Given the description of an element on the screen output the (x, y) to click on. 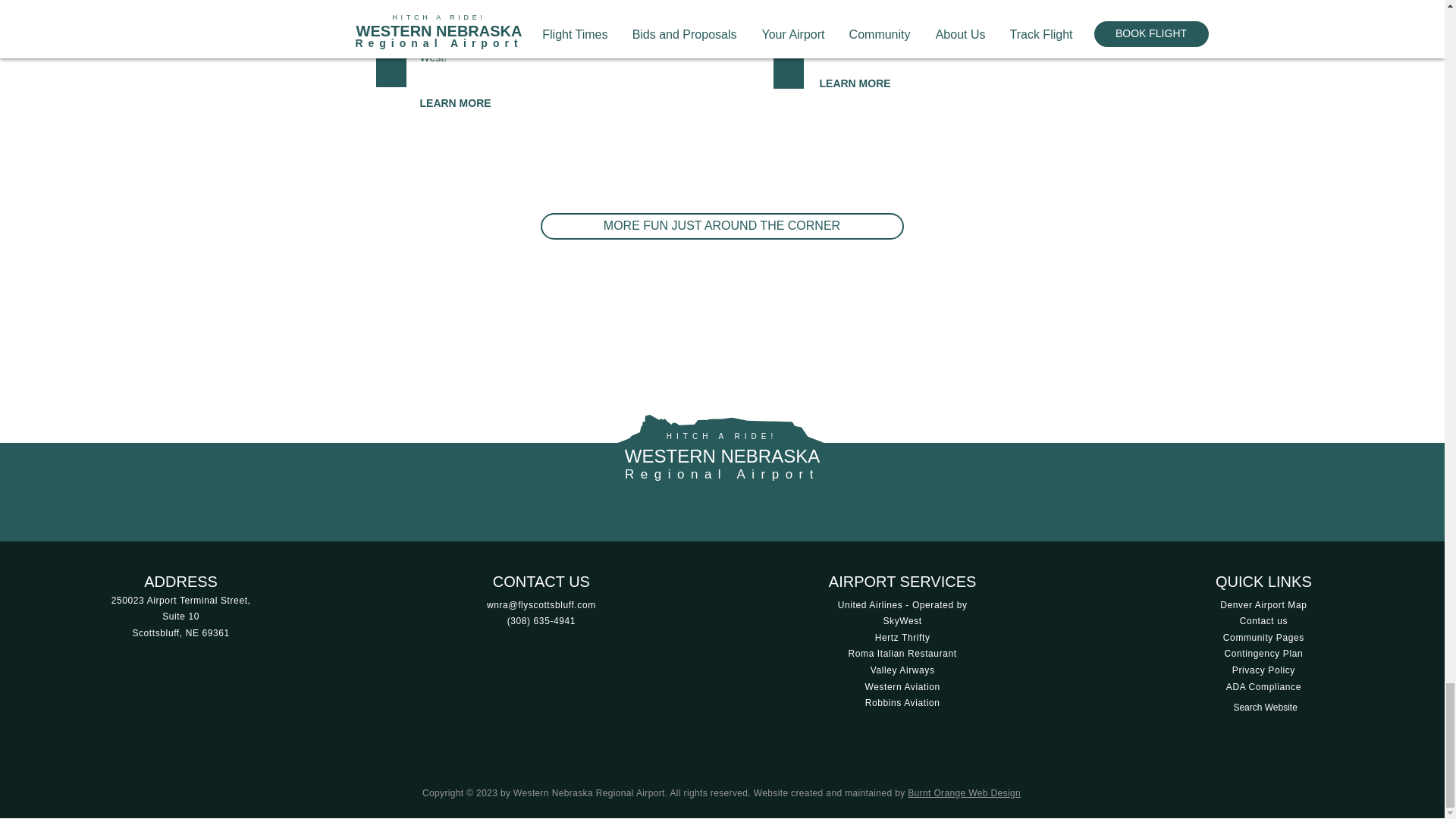
LEARN MORE (853, 82)
LEARN MORE (456, 102)
HITCH A RIDE! (721, 436)
WESTERN NEBRASKA (721, 455)
MORE FUN JUST AROUND THE CORNER (721, 225)
